Given the description of an element on the screen output the (x, y) to click on. 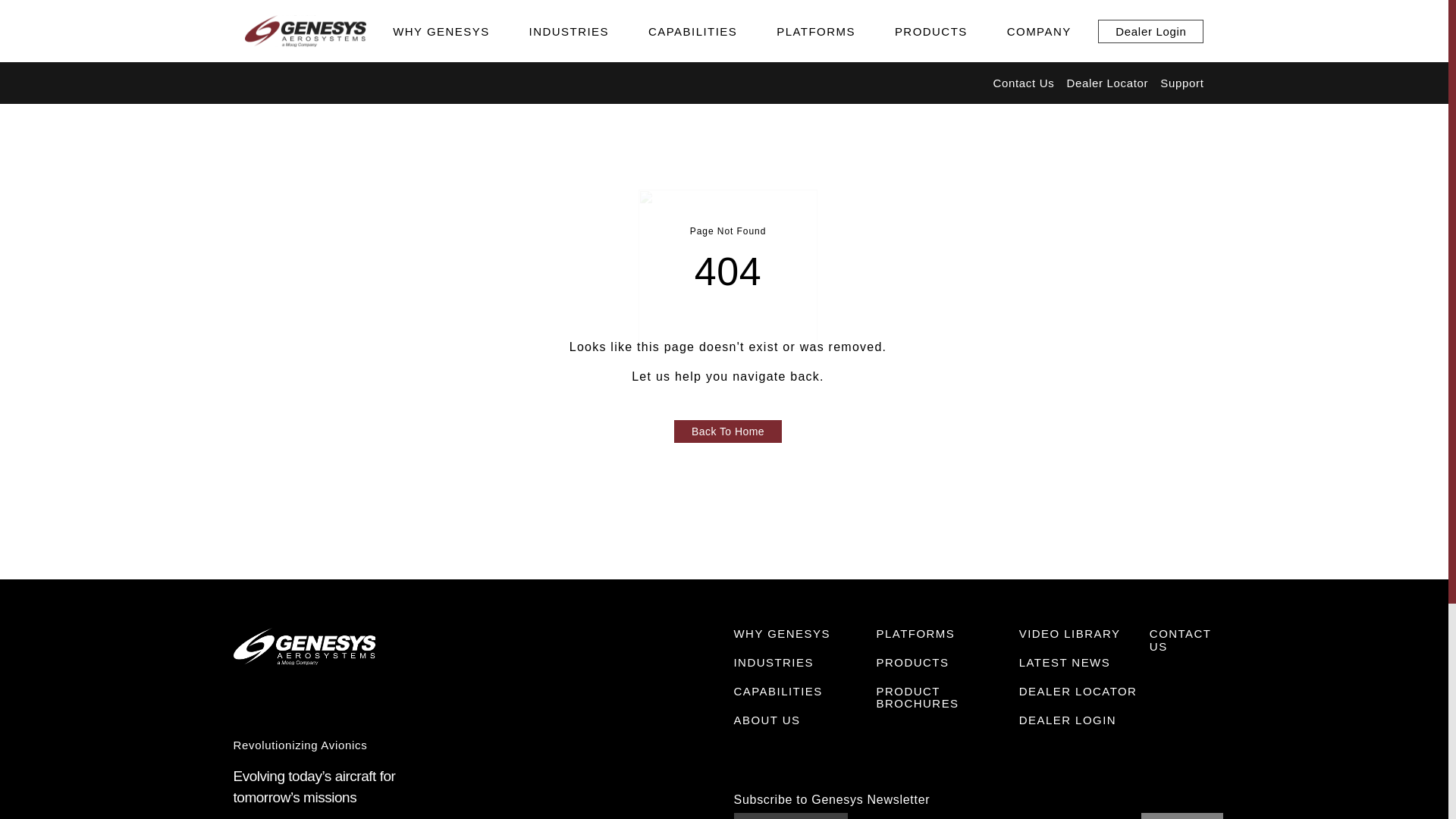
INDUSTRIES (568, 30)
Support (1182, 82)
WHY GENESYS (441, 30)
COMPANY (1039, 30)
PRODUCTS (931, 30)
Contact Us (1023, 82)
CAPABILITIES (691, 30)
Subscribe (1182, 816)
PLATFORMS (816, 30)
Dealer Login (1150, 31)
